Given the description of an element on the screen output the (x, y) to click on. 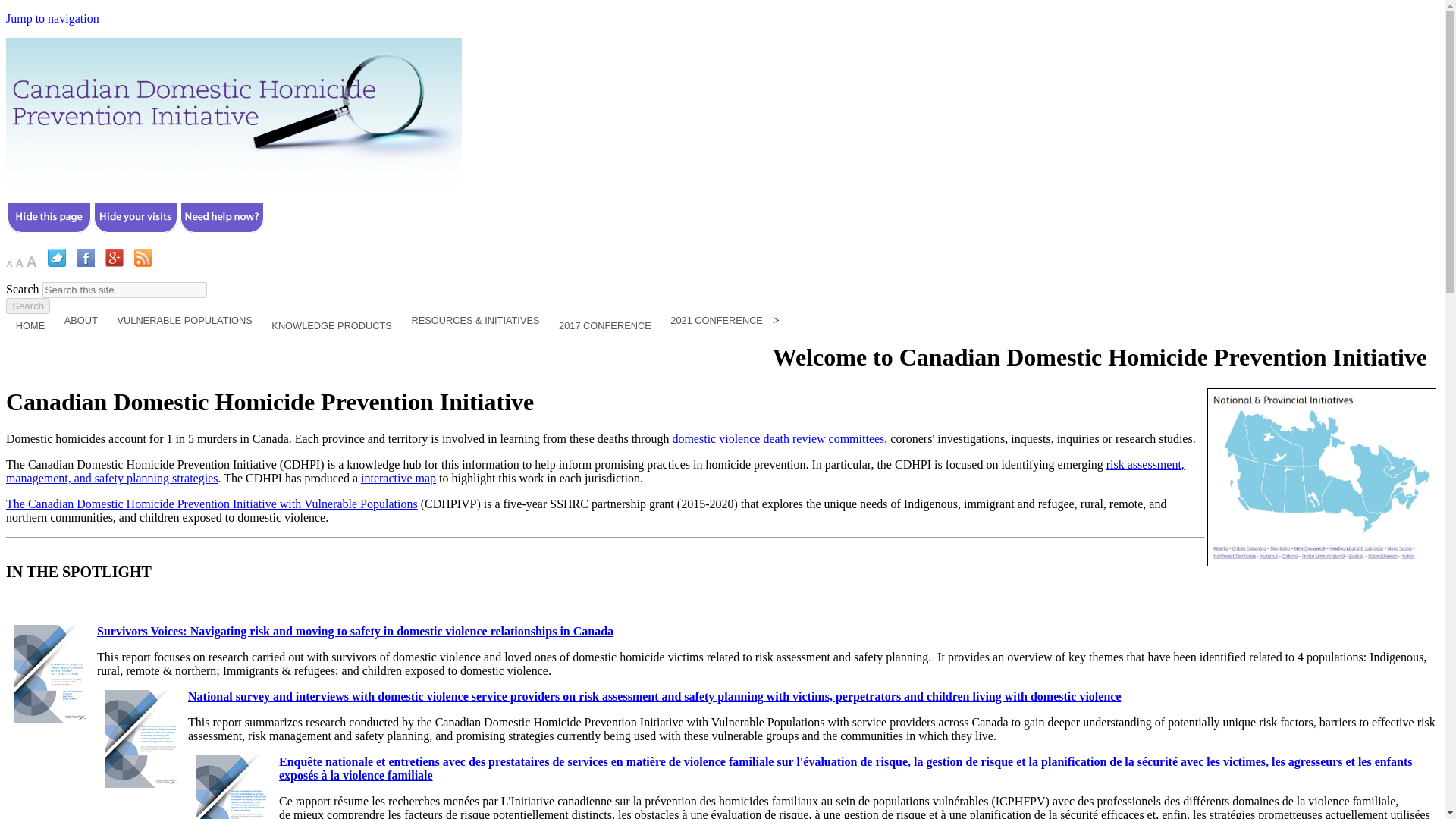
KNOWLEDGE PRODUCTS (331, 328)
Jump to navigation (52, 18)
2017 CONFERENCE (604, 328)
Home (233, 183)
Search (27, 305)
Enter the terms you wish to search for. (124, 289)
domestic violence death review committees (777, 438)
HOME (30, 328)
Search (27, 305)
